Given the description of an element on the screen output the (x, y) to click on. 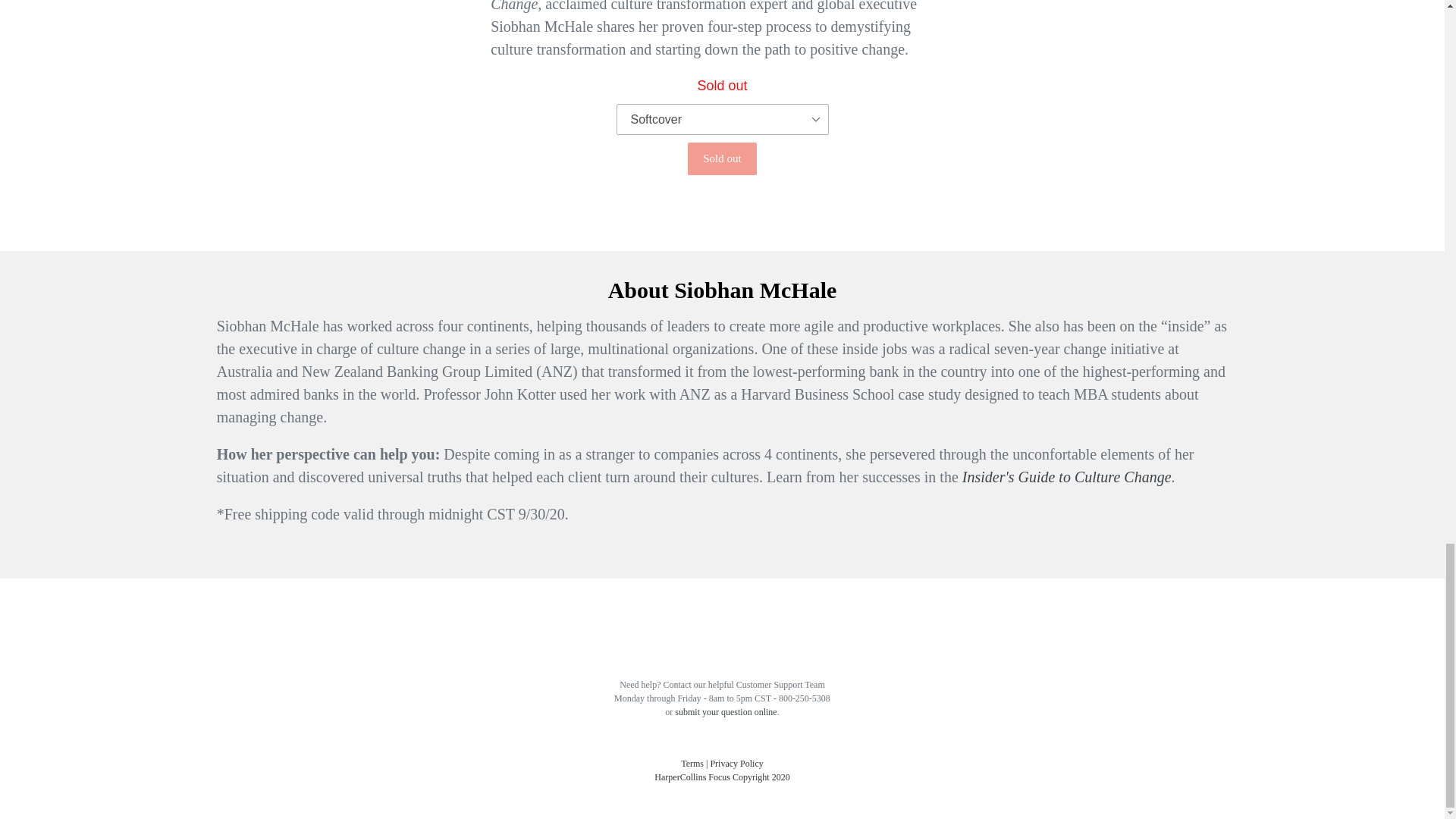
submit your question online (725, 711)
Terms (692, 763)
Sold out (721, 158)
HarperCollins Focus (691, 777)
Privacy Policy (736, 763)
Insider's Guide to Culture Change (1067, 476)
